Given the description of an element on the screen output the (x, y) to click on. 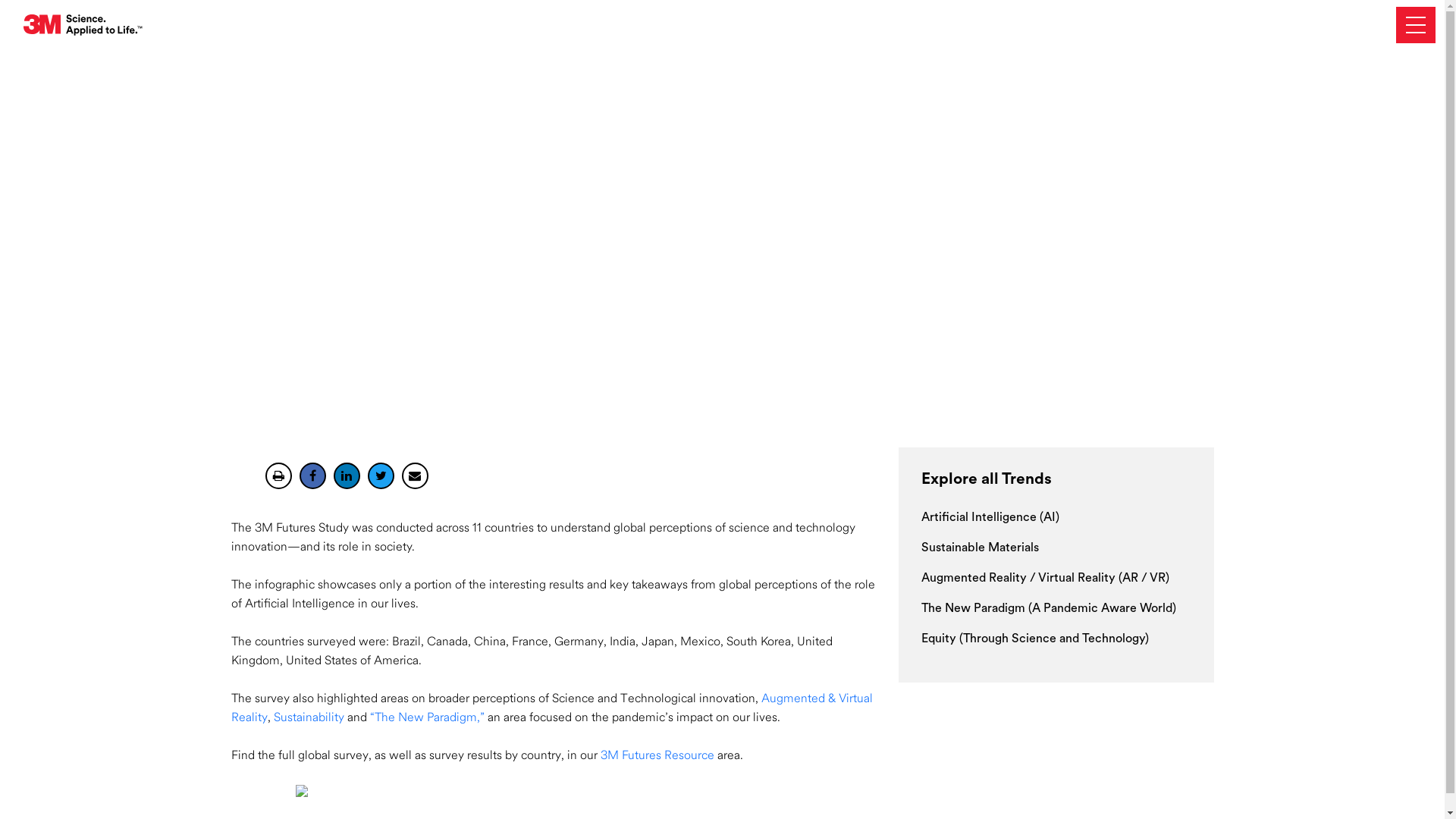
Sustainability Element type: text (308, 718)
The New Paradigm (A Pandemic Aware World) Element type: text (1047, 608)
Twitter Share Element type: hover (380, 475)
print Element type: hover (278, 475)
Augmented & Virtual Reality Element type: text (551, 708)
Equity (Through Science and Technology) Element type: text (1034, 639)
Facebook Share Element type: hover (311, 475)
Sustainable Materials Element type: text (979, 548)
3M Futures Resource Element type: text (657, 755)
Artificial Intelligence (AI) Element type: text (989, 517)
Augmented Reality / Virtual Reality (AR / VR) Element type: text (1044, 578)
email Element type: hover (414, 475)
Linkedin Share Element type: hover (346, 475)
